Given the description of an element on the screen output the (x, y) to click on. 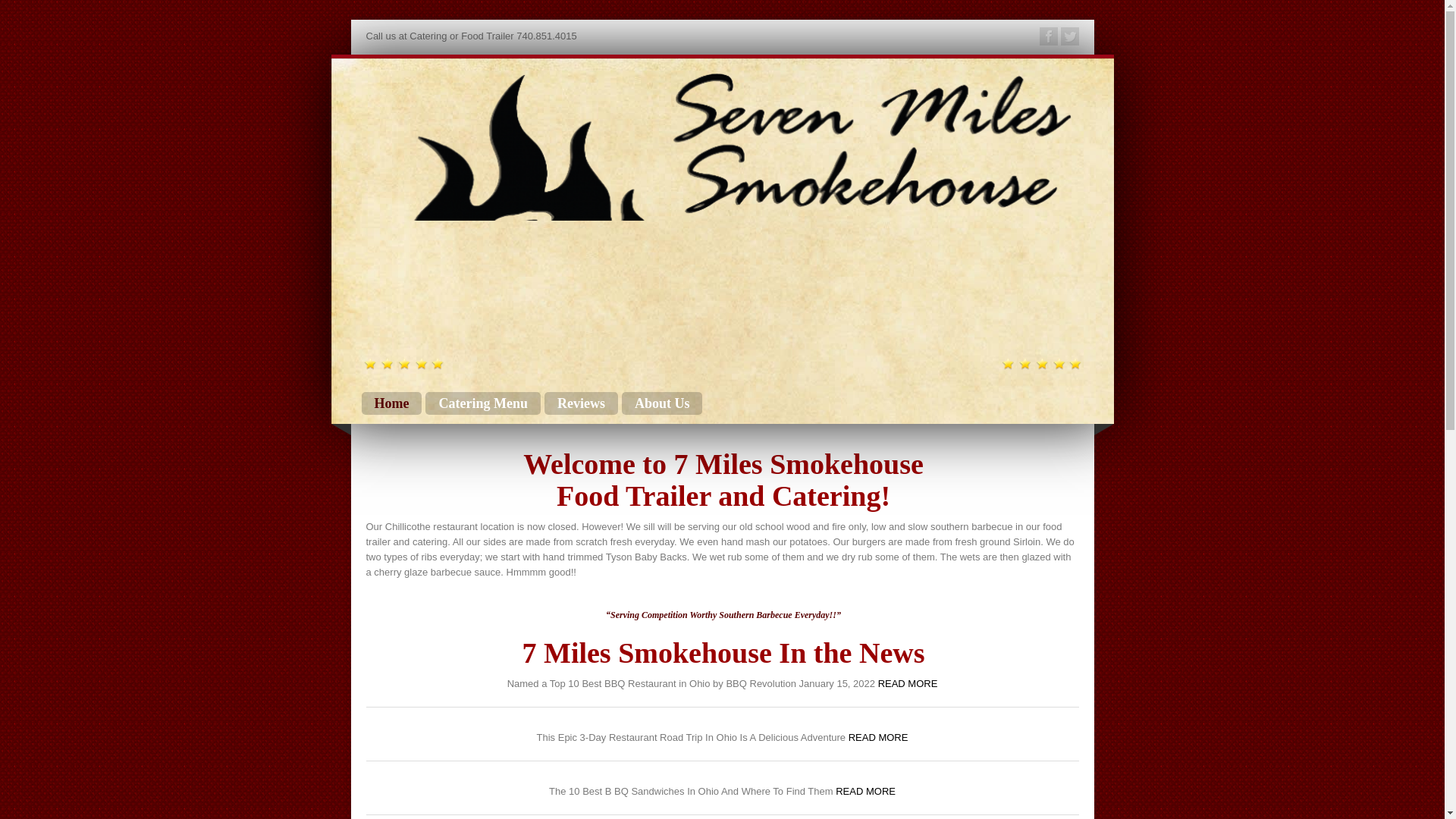
Catering Menu (482, 403)
READ MORE (907, 683)
READ MORE (878, 737)
Follow me on fb (1048, 36)
About Us (662, 403)
Reviews (581, 403)
Follow me on twitter (1068, 36)
Home (392, 403)
READ MORE (865, 790)
